Given the description of an element on the screen output the (x, y) to click on. 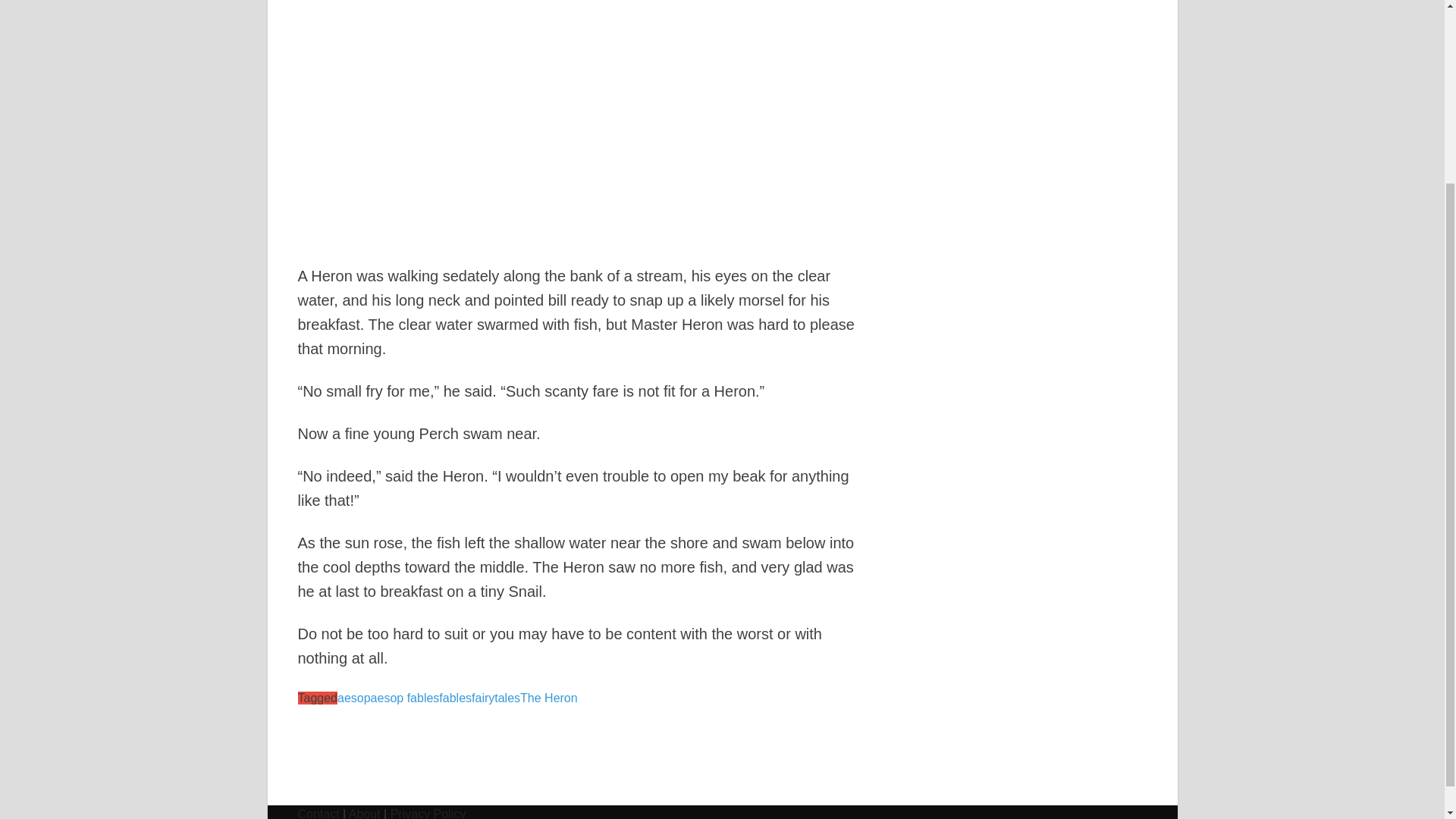
The Heron (575, 119)
The Heron (548, 697)
fables (455, 697)
aesop fables (405, 697)
fairytales (495, 697)
aesop (354, 697)
